Given the description of an element on the screen output the (x, y) to click on. 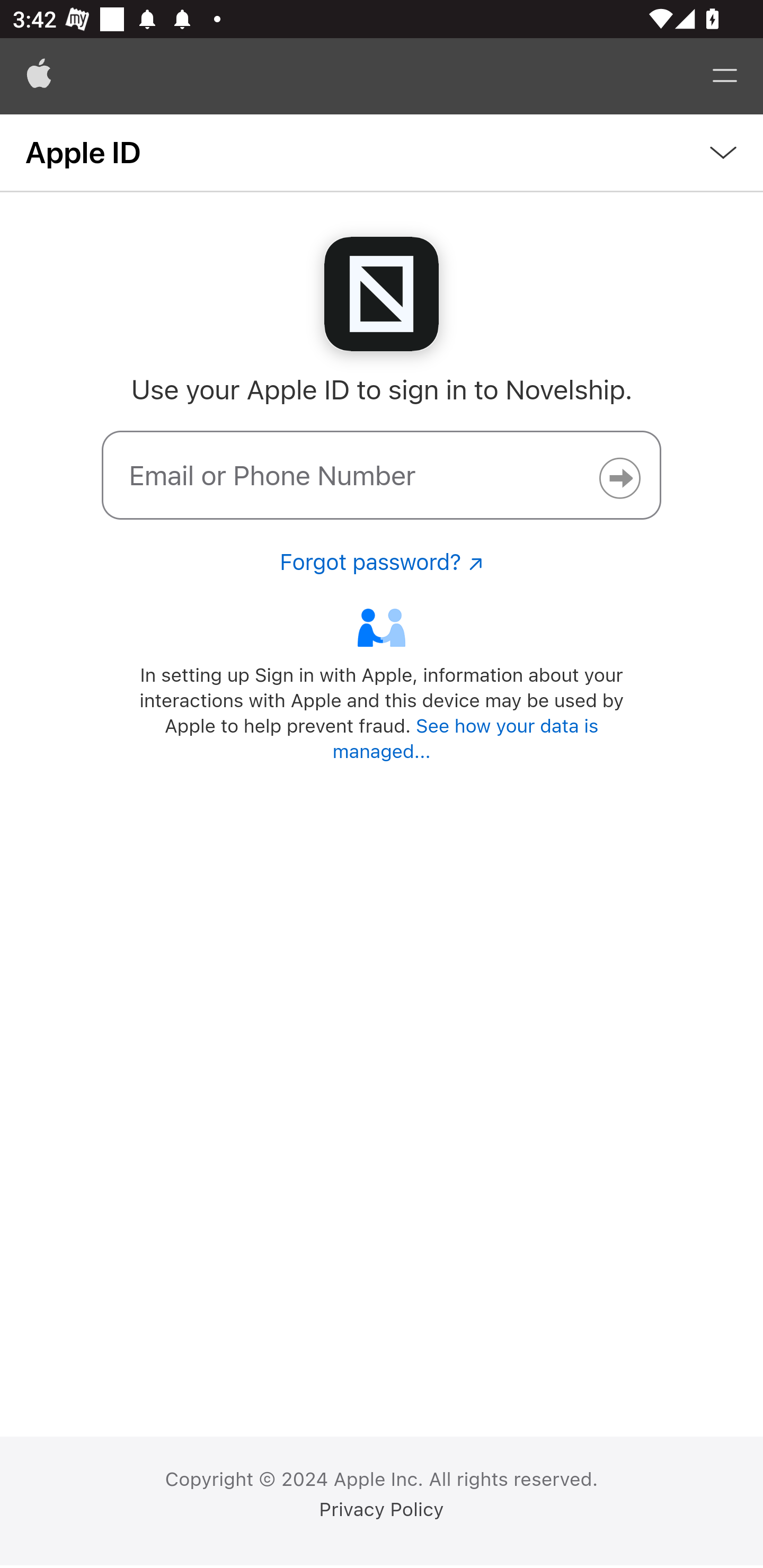
Apple (38, 75)
Menu (724, 75)
Continue (618, 477)
Privacy Policy (381, 1509)
